Given the description of an element on the screen output the (x, y) to click on. 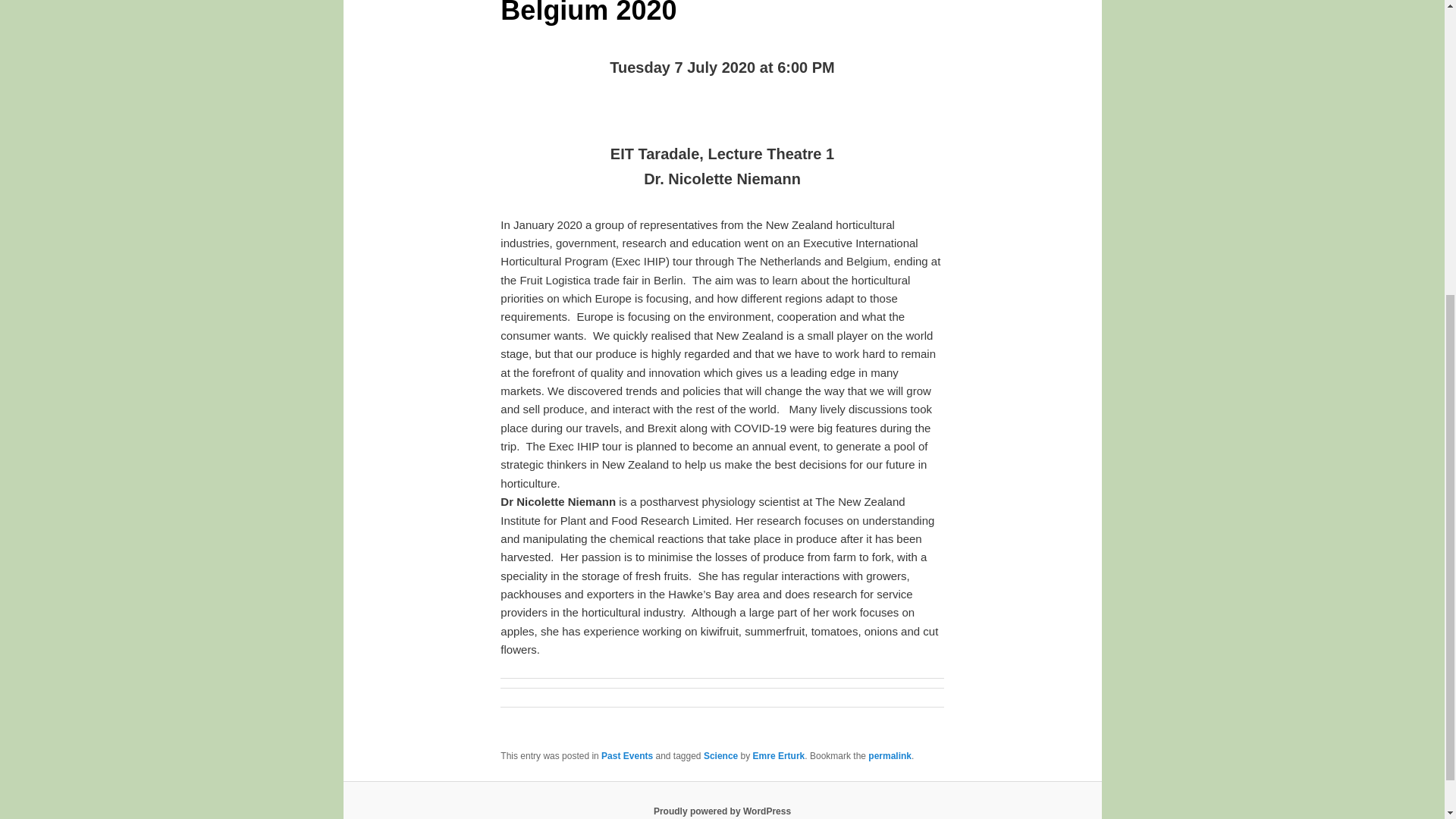
permalink (889, 756)
Past Events (626, 756)
Semantic Personal Publishing Platform (721, 810)
Proudly powered by WordPress (721, 810)
Science (720, 756)
Emre Erturk (778, 756)
